Given the description of an element on the screen output the (x, y) to click on. 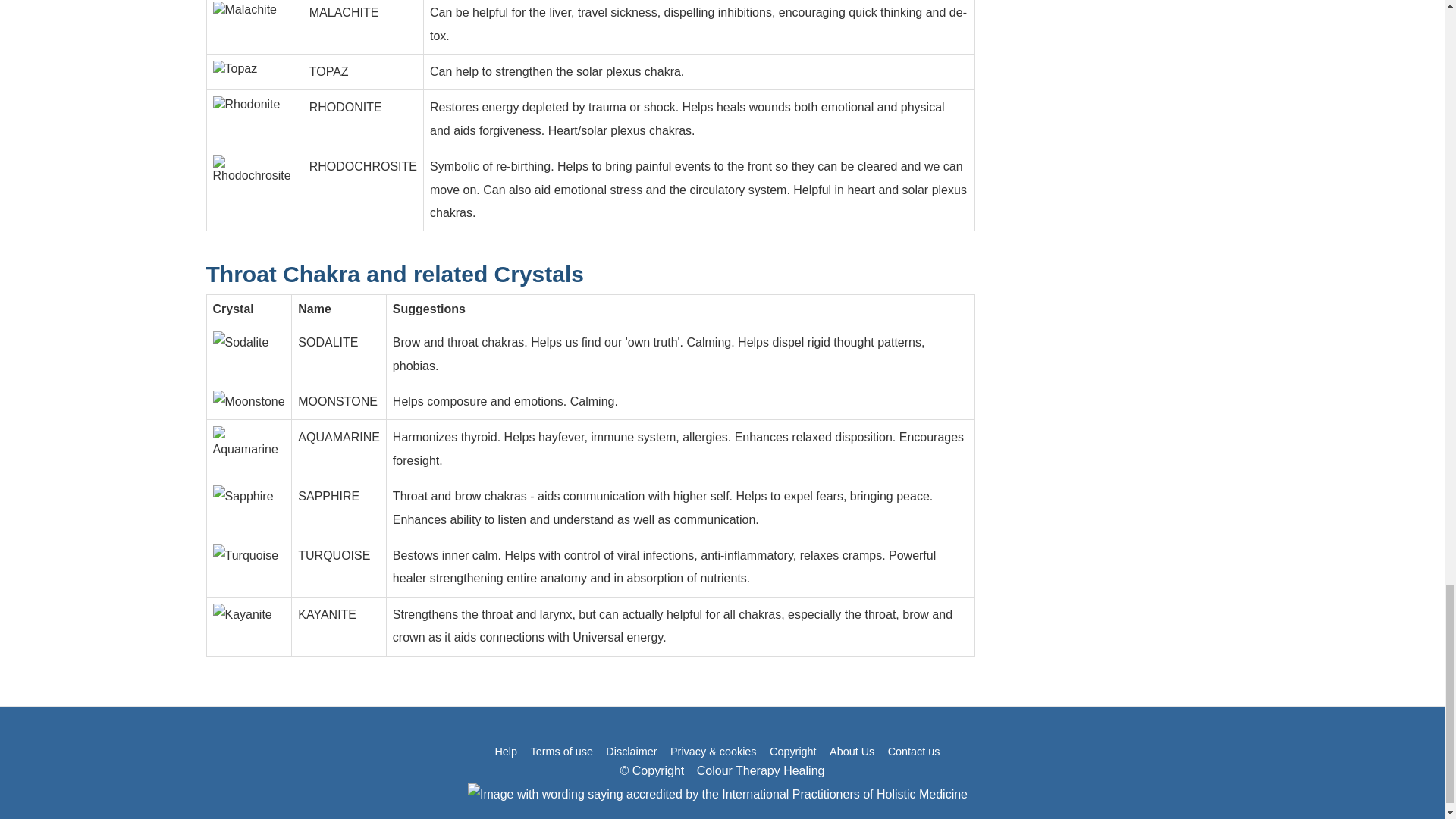
Throat Chakra and related Crystals (395, 273)
